Given the description of an element on the screen output the (x, y) to click on. 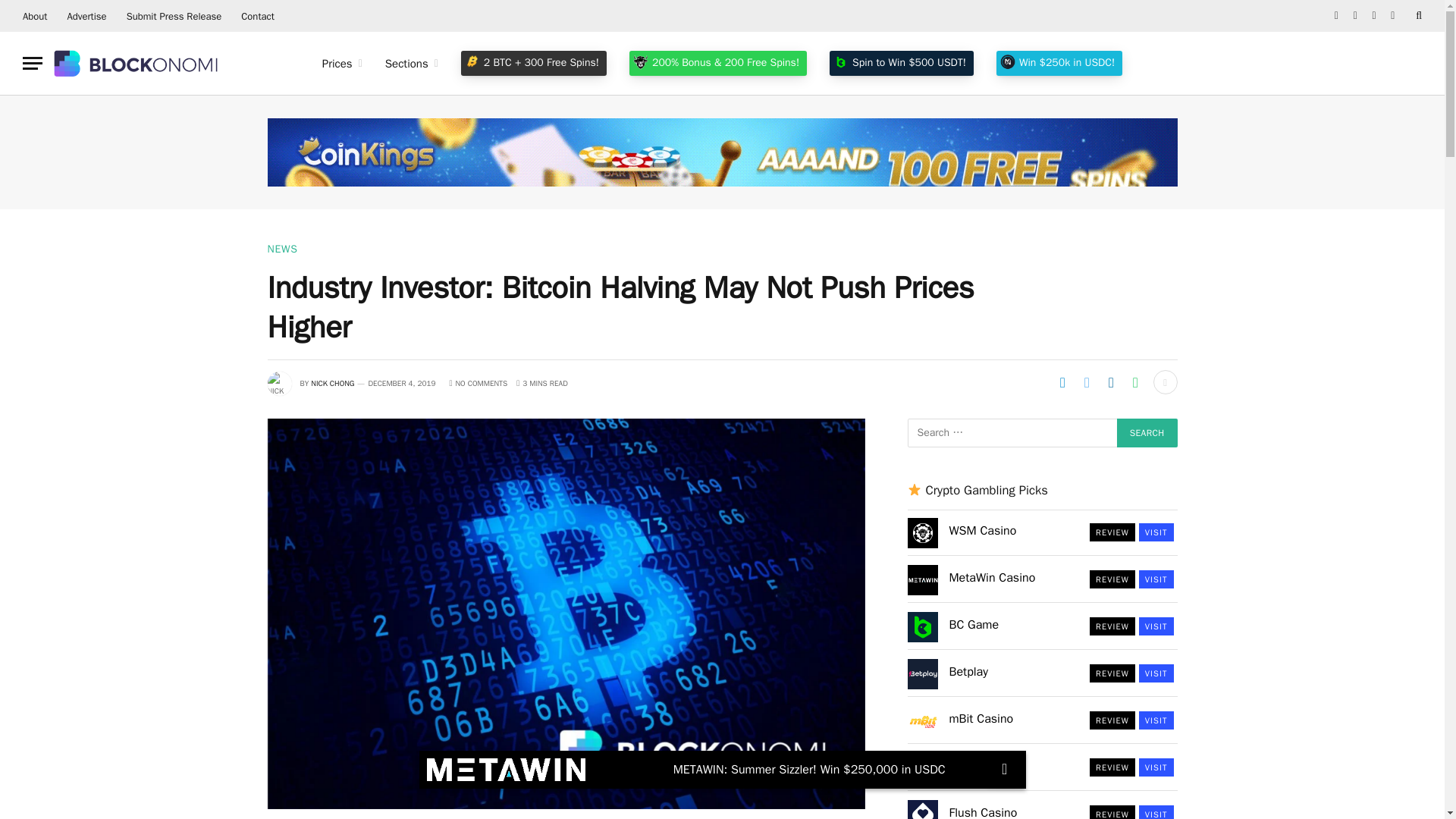
Posts by Nick Chong (332, 383)
Advertise (86, 15)
Share on WhatsApp (1135, 381)
Submit Press Release (173, 15)
Telegram (1392, 15)
Search (1146, 432)
LinkedIn (1374, 15)
Share on LinkedIn (1110, 381)
Facebook (1336, 15)
Show More Social Sharing (1164, 381)
Blockonomi (137, 62)
Share on Telegram (1062, 381)
Prices (342, 63)
Sections (411, 63)
